Given the description of an element on the screen output the (x, y) to click on. 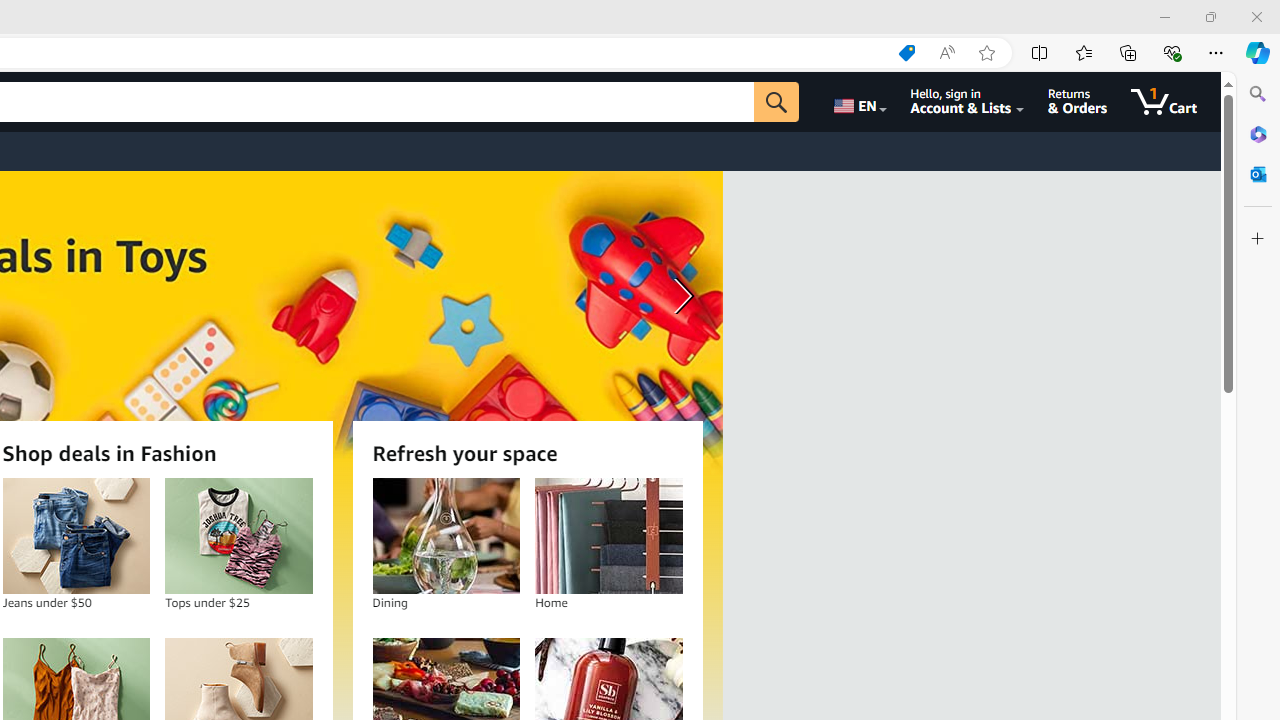
Go (776, 101)
1 item in cart (1163, 101)
Dining (445, 536)
Next slide (680, 296)
Choose a language for shopping. (858, 101)
